Given the description of an element on the screen output the (x, y) to click on. 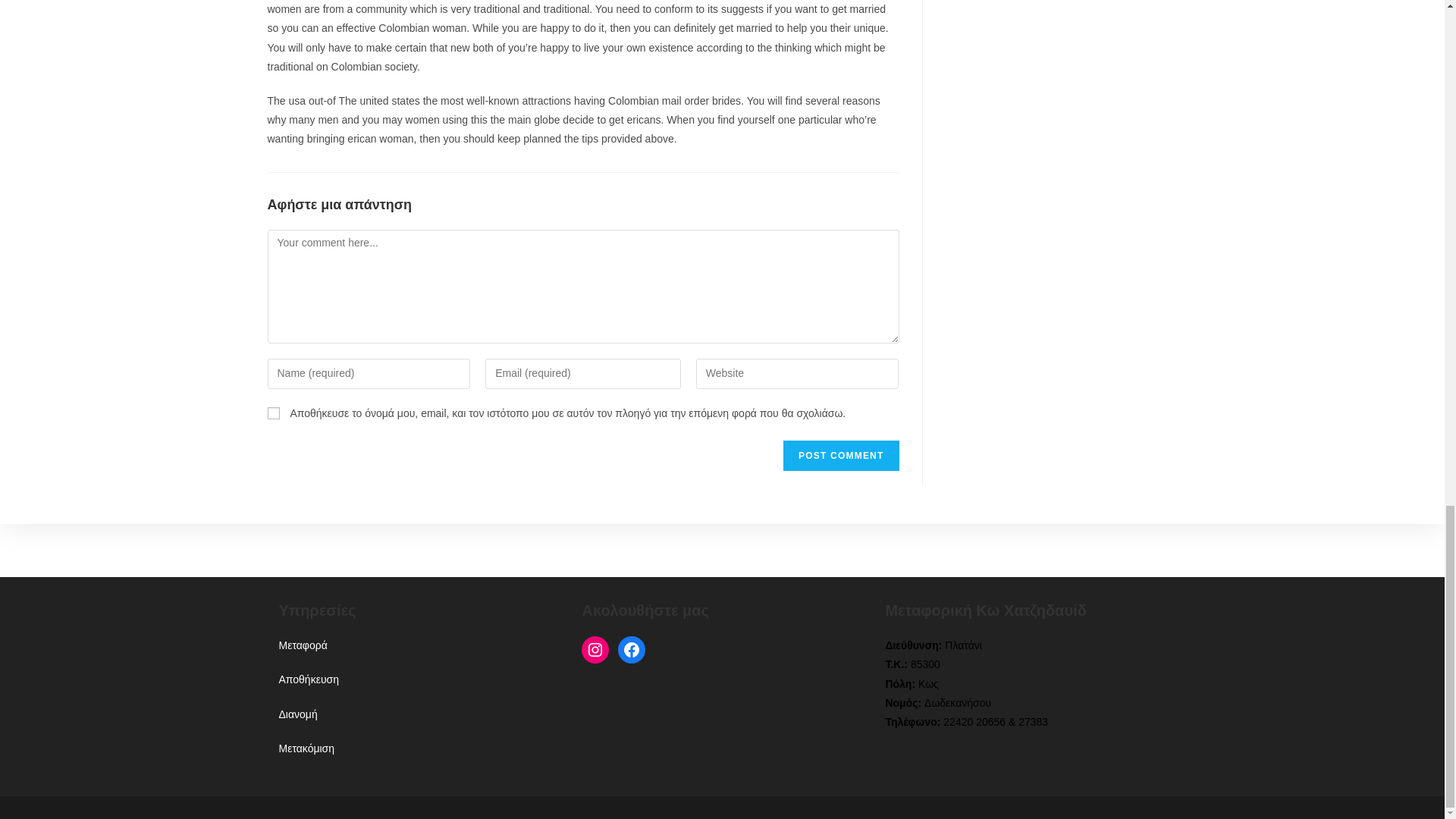
Post Comment (840, 455)
yes (272, 413)
Post Comment (840, 455)
